Given the description of an element on the screen output the (x, y) to click on. 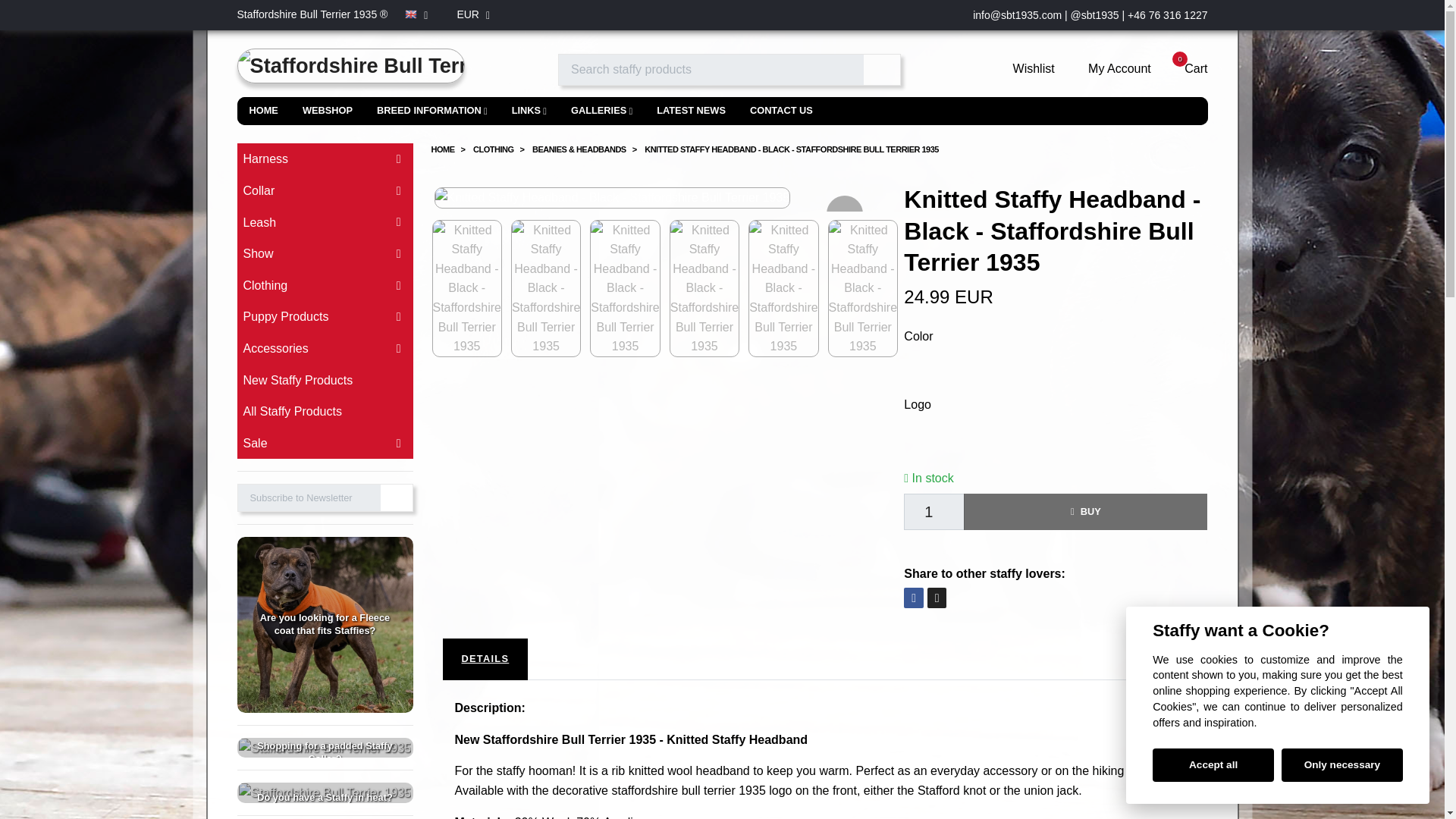
Staffordshire Bull Terrier 1935 (349, 69)
1 (933, 511)
Latest News (691, 110)
LINKS (529, 111)
Home (262, 110)
BREED INFORMATION (432, 111)
Webshop (327, 110)
EUR (473, 14)
Wishlist (1024, 68)
Contact us (781, 110)
